Given the description of an element on the screen output the (x, y) to click on. 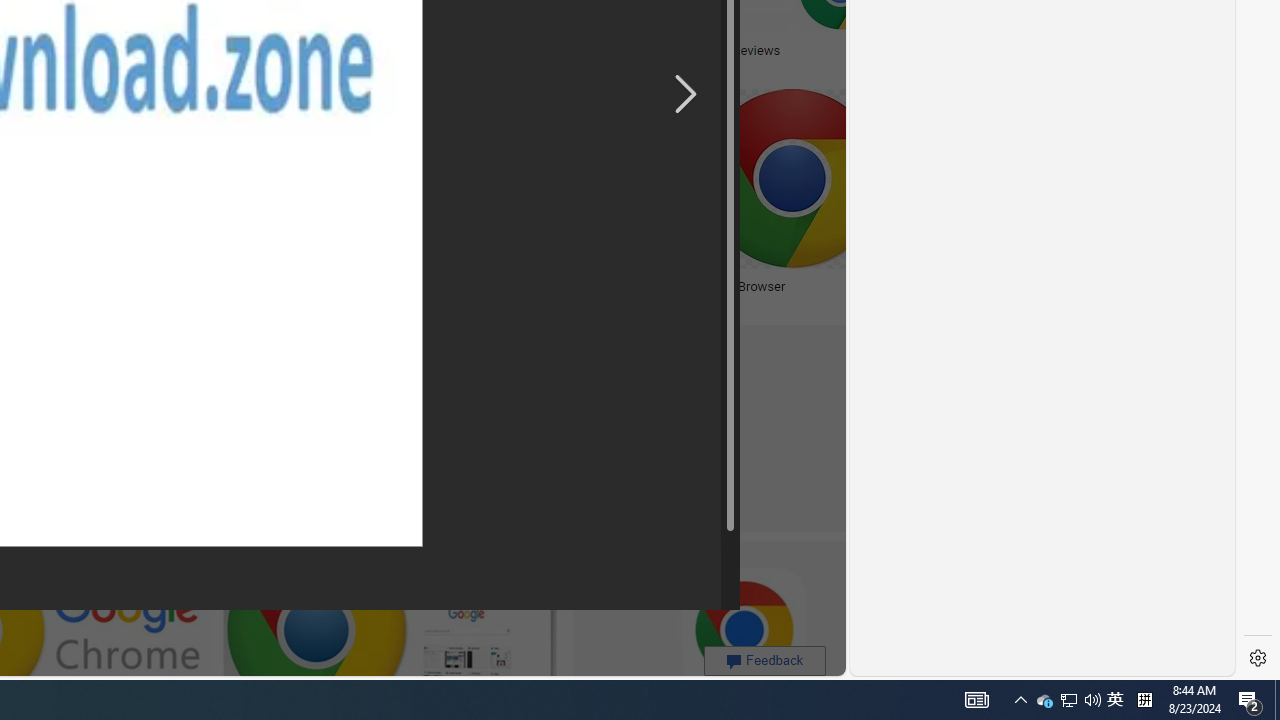
Google Chrome Review | Top Ten Reviews (707, 50)
Lambang Chrome (212, 286)
What Is The Fastest Browser To Use With Windows 10 (540, 294)
Image result for Google Chrome Internet Browser Download (540, 179)
Lambang Chrome (86, 286)
What Is The Fastest Browser To Use With Windows 10 (540, 294)
Lambang ChromeSave (216, 202)
Google Chrome Review | Top Ten Reviews (660, 50)
Image result for Google Chrome Internet Browser Download (791, 179)
Chrome Browser (736, 286)
What Is The Fastest Browser To Use With Windows 10Save (544, 202)
The latest version of google chrome free download - gaimacro (443, 56)
Chrome BrowserSave (841, 202)
